Given the description of an element on the screen output the (x, y) to click on. 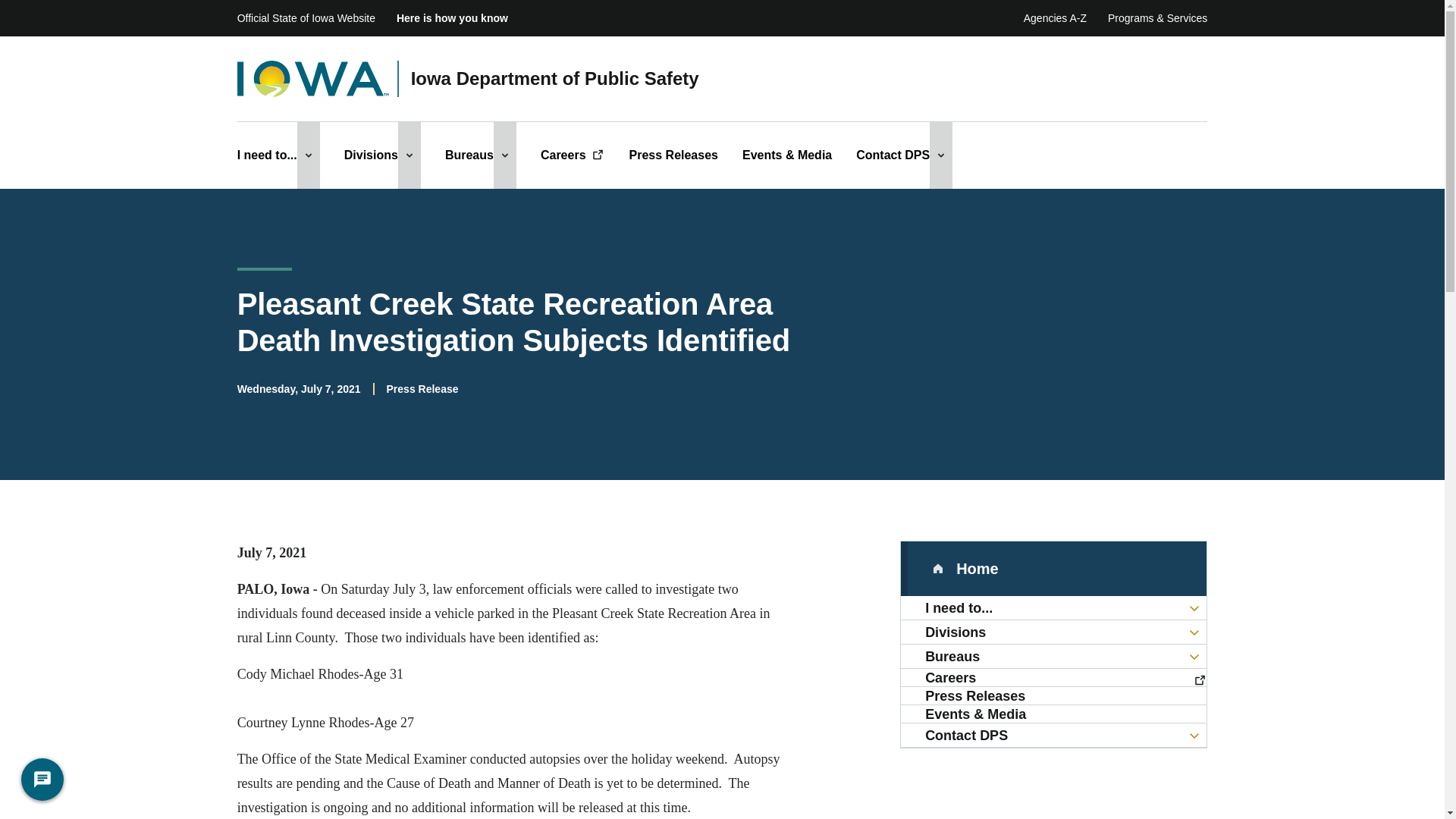
Careers (572, 155)
Agencies A-Z (1054, 18)
I need to... (267, 155)
Iowa Department of Public Safety (554, 78)
Messenger Launcher (41, 782)
Join the DPS team (1054, 678)
Press Releases (672, 155)
Contact DPS (893, 155)
Join the DPS team (572, 155)
Here is how you know (452, 18)
